Given the description of an element on the screen output the (x, y) to click on. 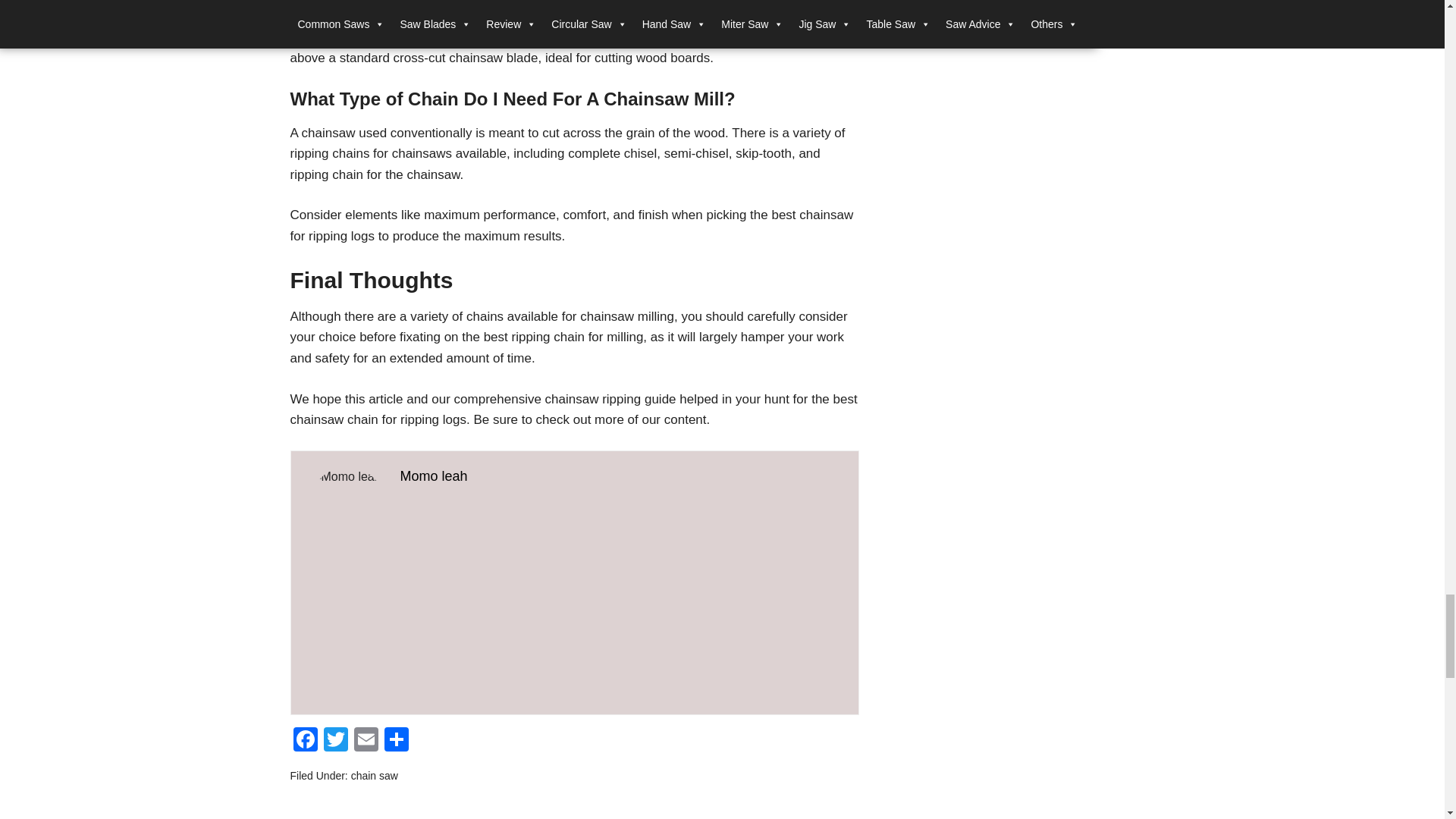
Email (365, 741)
Facebook (304, 741)
Twitter (335, 741)
